Given the description of an element on the screen output the (x, y) to click on. 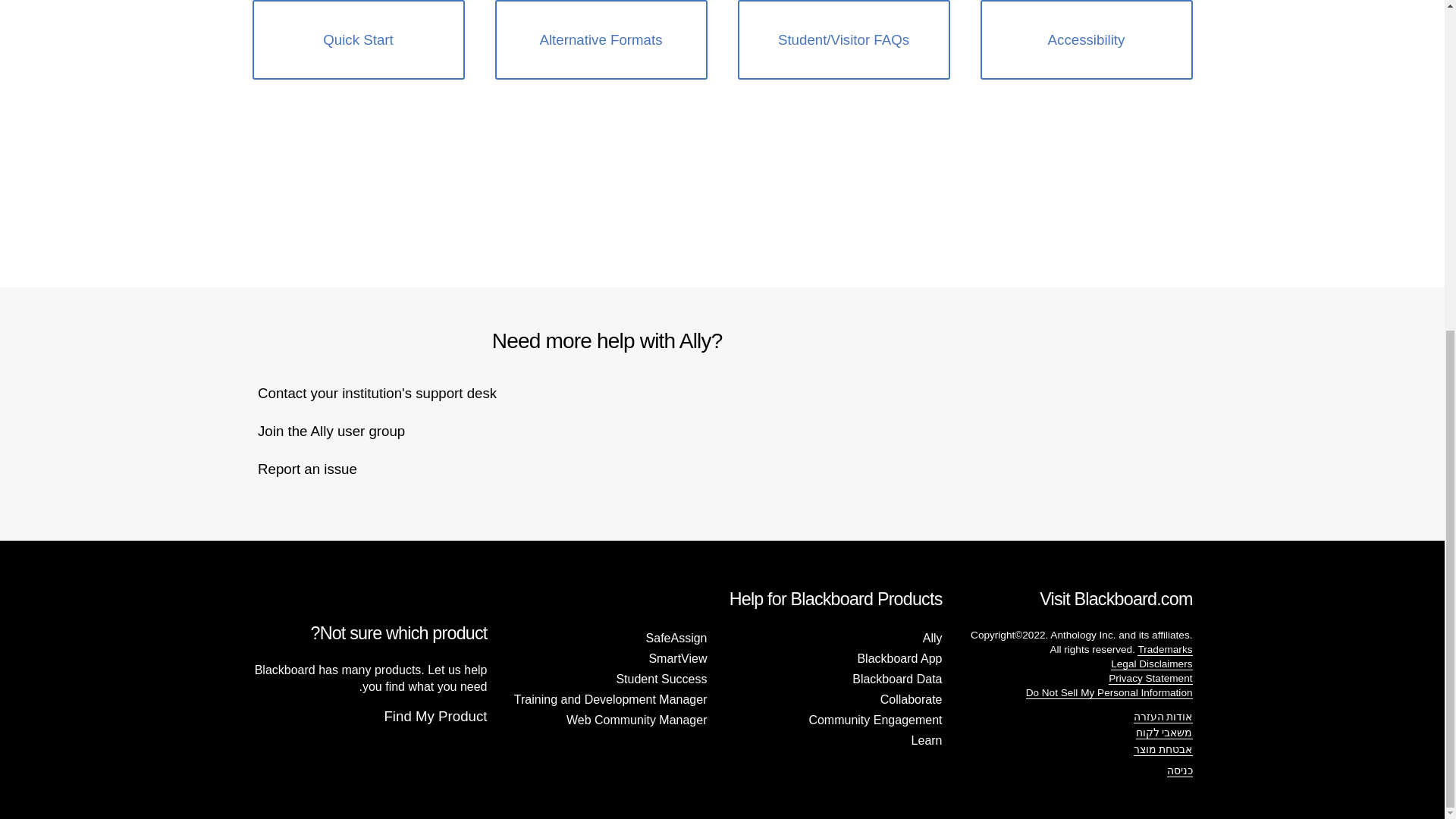
Alternative Formats (600, 40)
Accessibility (1085, 40)
Quick Start (357, 40)
Contact your institution's support desk (376, 393)
